Given the description of an element on the screen output the (x, y) to click on. 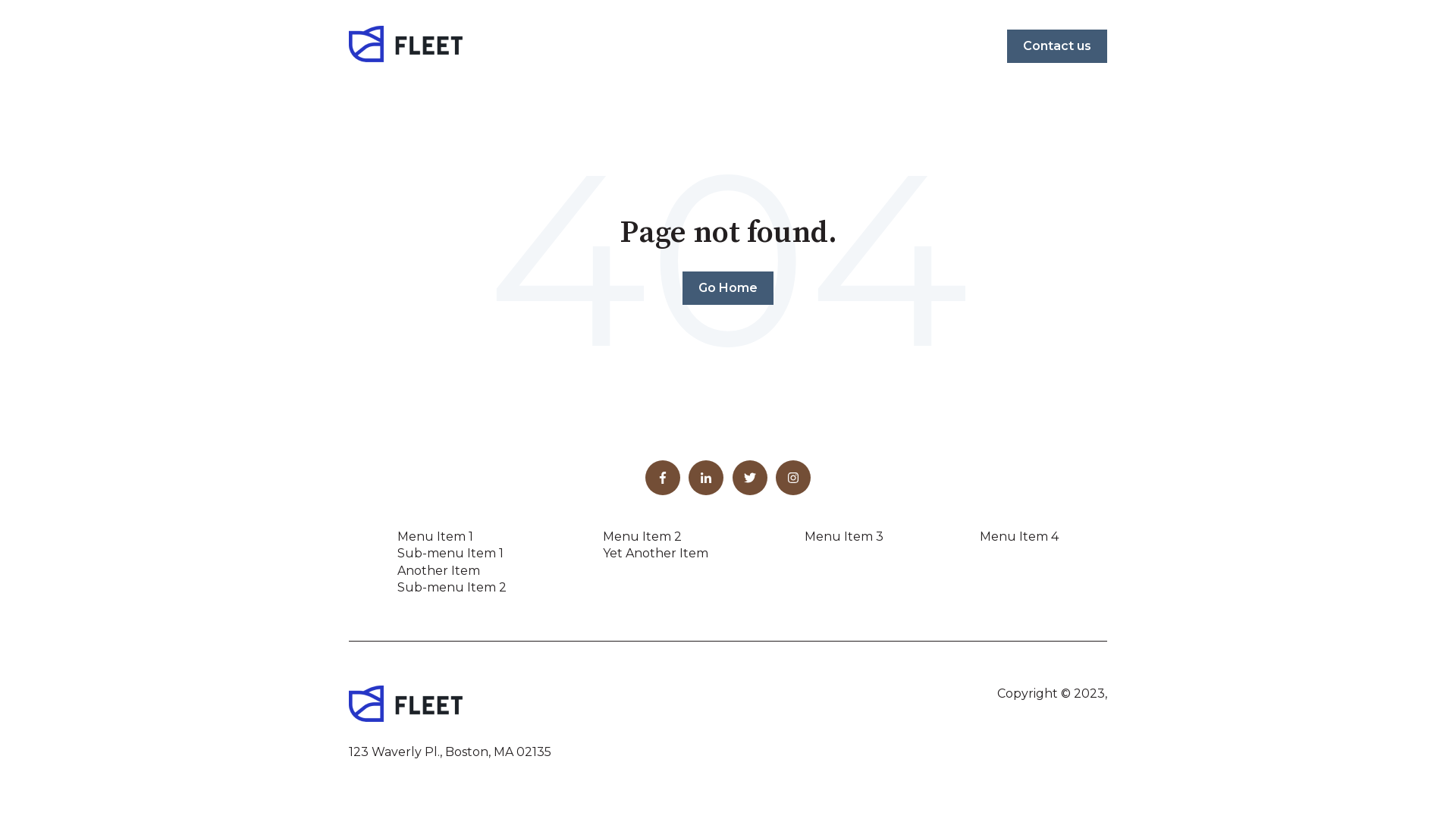
Contact us Element type: text (1057, 45)
Another Item Element type: text (438, 570)
Go Home Element type: text (727, 287)
Menu Item 1 Element type: text (435, 536)
Menu Item 2 Element type: text (641, 536)
Menu Item 3 Element type: text (843, 536)
Sub-menu Item 2 Element type: text (451, 587)
fleet logo colour Element type: hover (405, 703)
Sub-menu Item 1 Element type: text (450, 553)
Yet Another Item Element type: text (655, 553)
Menu Item 4 Element type: text (1018, 536)
